Given the description of an element on the screen output the (x, y) to click on. 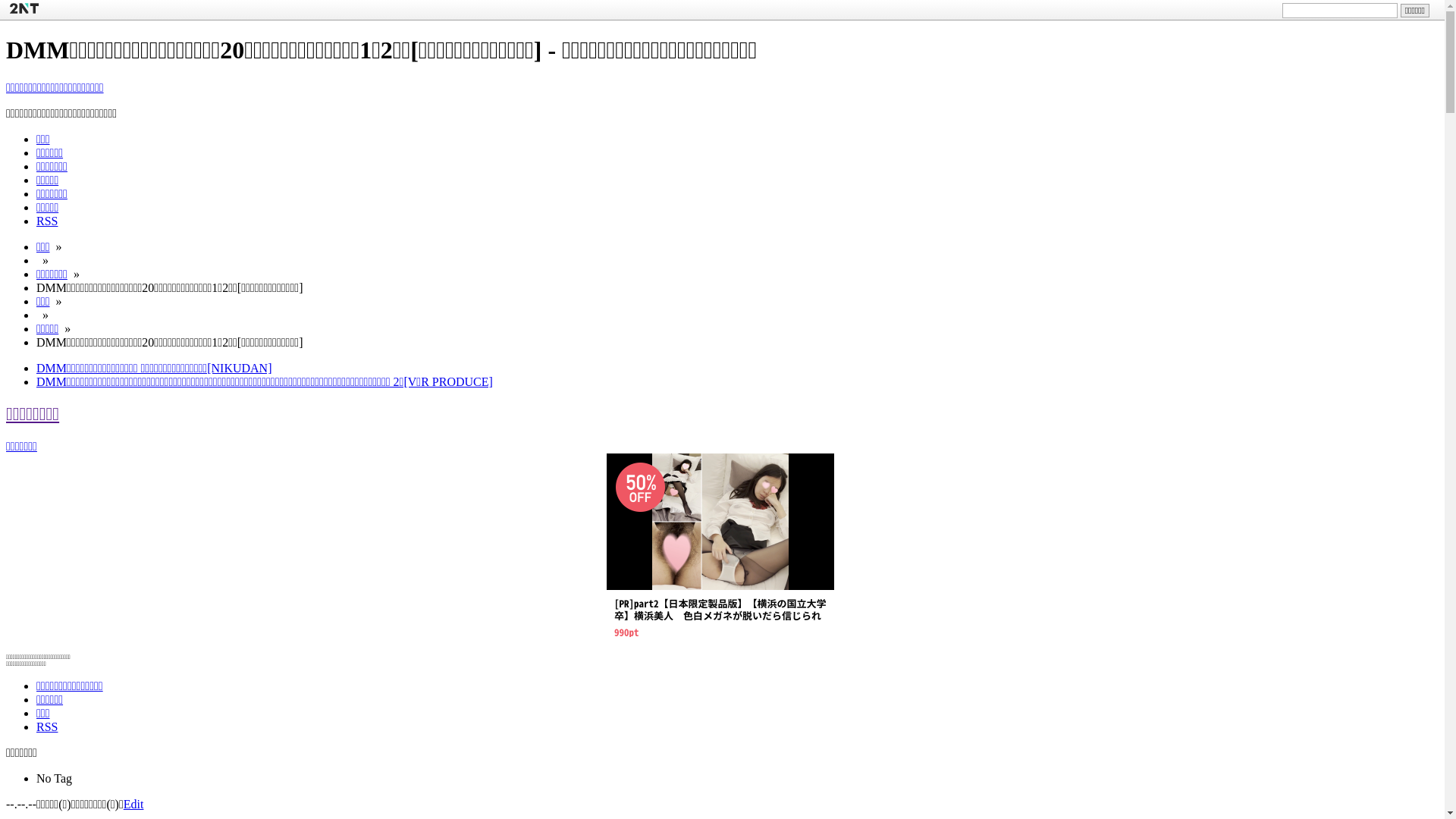
RSS Element type: text (46, 726)
RSS Element type: text (46, 220)
Edit Element type: text (133, 803)
